Given the description of an element on the screen output the (x, y) to click on. 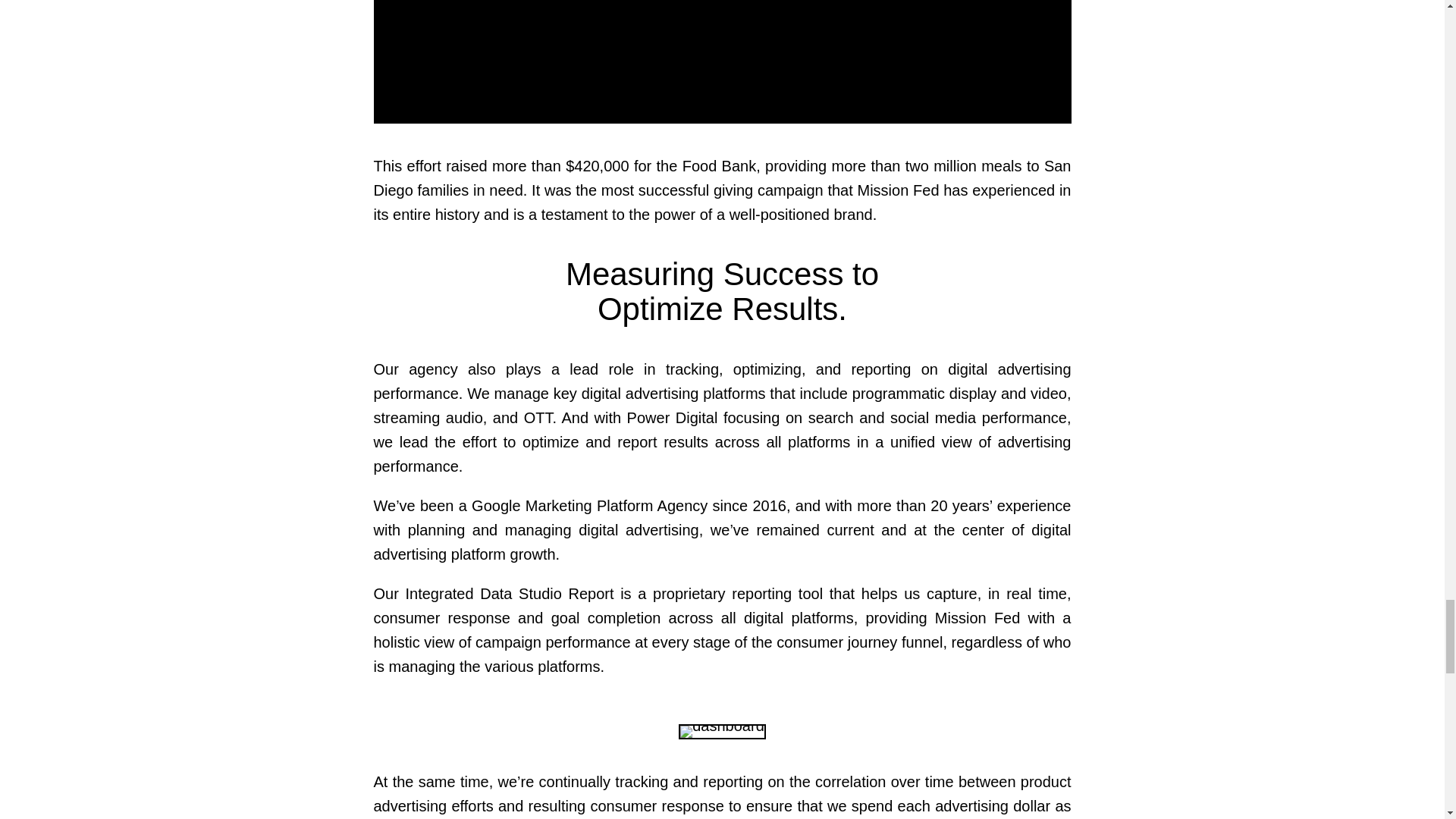
dashboard (721, 731)
